Given the description of an element on the screen output the (x, y) to click on. 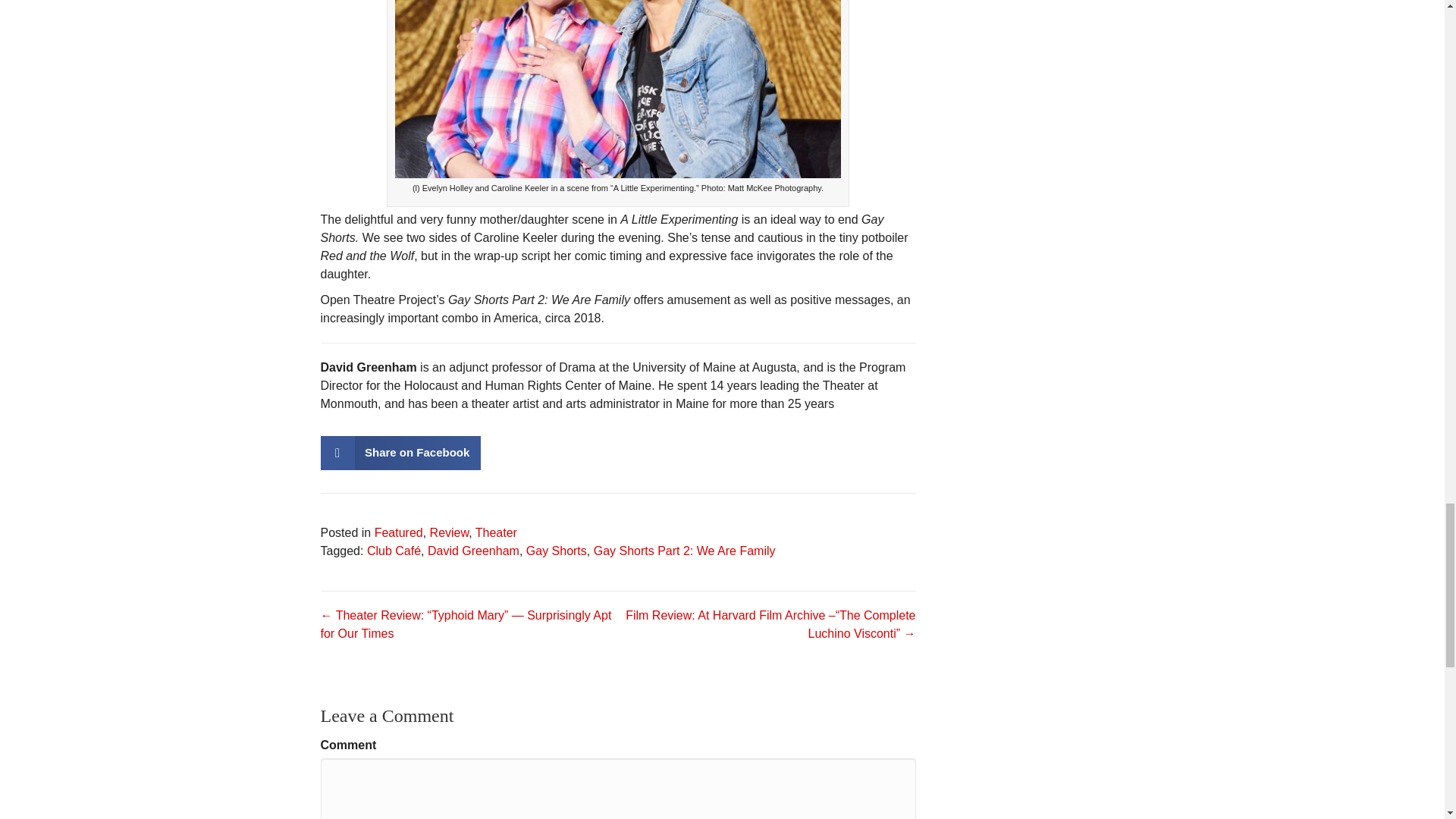
Gay Shorts (555, 550)
David Greenham (473, 550)
Gay Shorts Part 2: We Are Family (685, 550)
Featured (398, 532)
Theater (496, 532)
Review (448, 532)
Share on Facebook (400, 452)
